Given the description of an element on the screen output the (x, y) to click on. 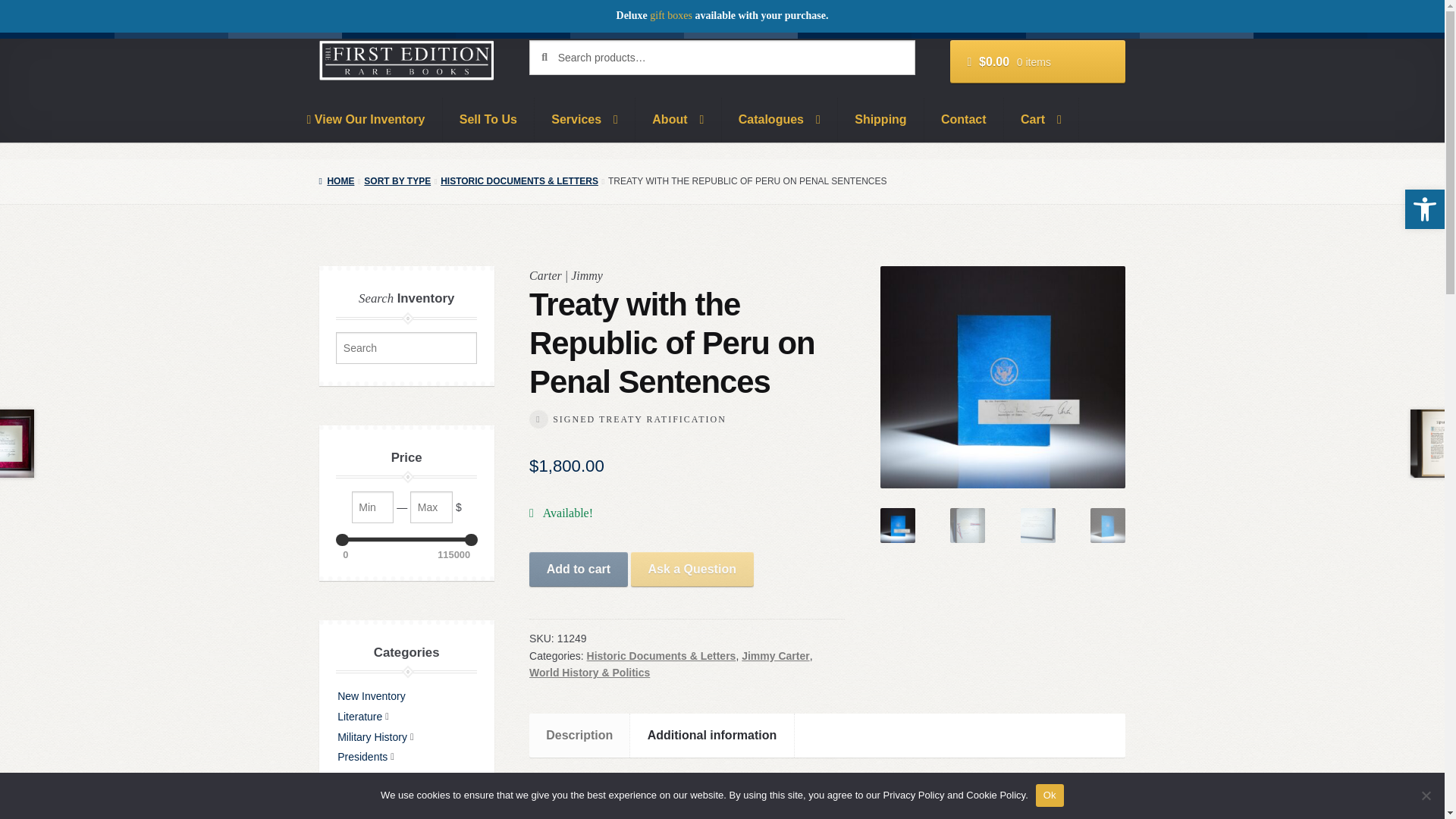
About (677, 119)
View your shopping cart (1037, 62)
No (1425, 795)
Catalogues (780, 119)
Accessibility Tools (1424, 209)
View Our Inventory (365, 119)
Sell To Us (488, 119)
Cart (1041, 119)
gift boxes (671, 15)
Services (584, 119)
Contact (964, 119)
Shipping (881, 119)
